Given the description of an element on the screen output the (x, y) to click on. 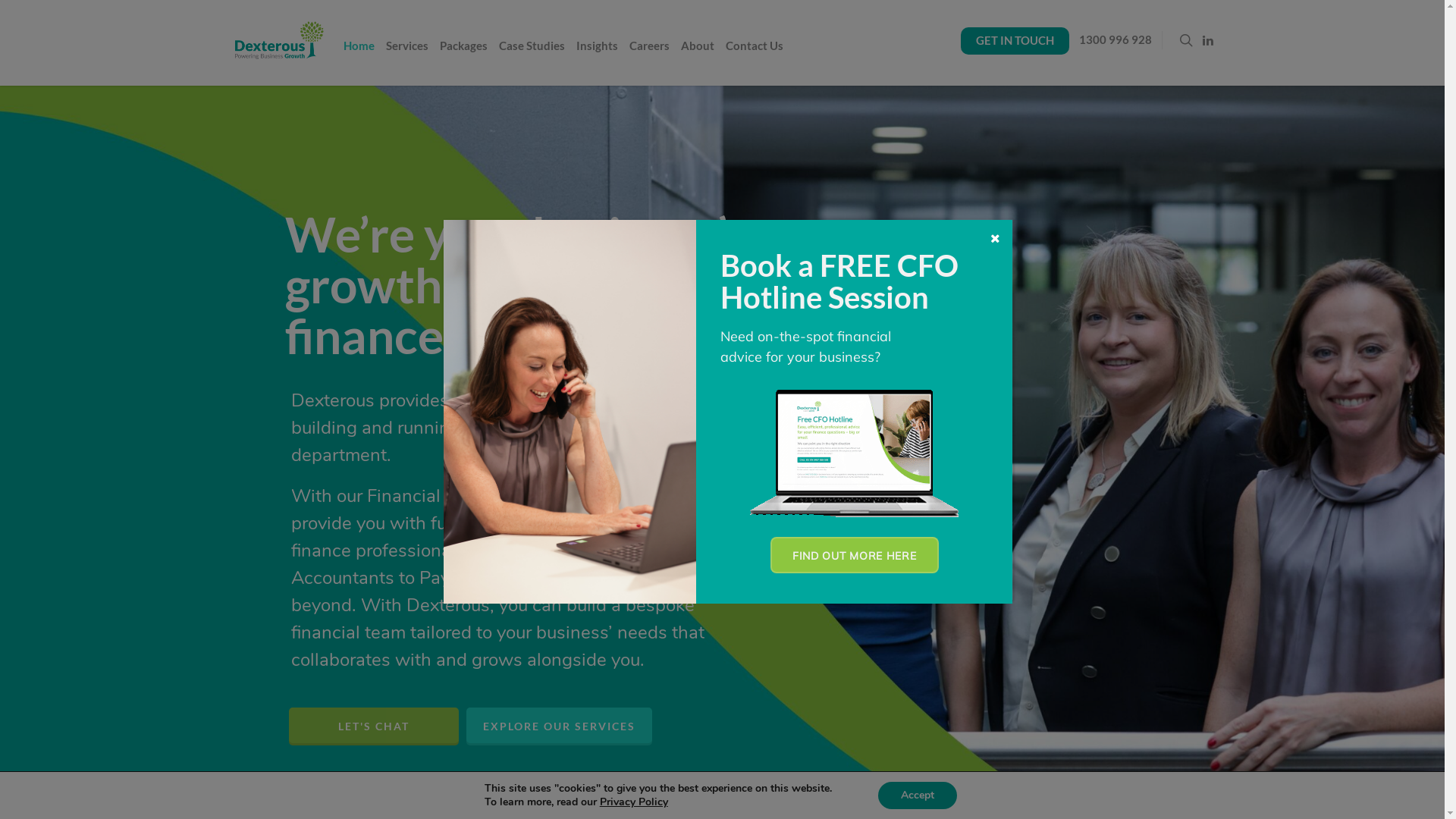
1300 996 928 Element type: text (1120, 50)
About Element type: text (702, 56)
Packages Element type: text (468, 56)
Case Studies Element type: text (536, 56)
Services Element type: text (405, 56)
FIND OUT MORE HERE Element type: text (854, 554)
EXPLORE OUR SERVICES Element type: text (559, 726)
Accept Element type: text (917, 795)
Careers Element type: text (654, 56)
Privacy Policy Element type: text (633, 801)
Contact Us Element type: text (759, 56)
LET'S CHAT Element type: text (373, 726)
FIND OUT MORE HERE Element type: text (854, 555)
GET IN TOUCH Element type: text (1014, 40)
Home Element type: text (357, 56)
Insights Element type: text (601, 56)
